Given the description of an element on the screen output the (x, y) to click on. 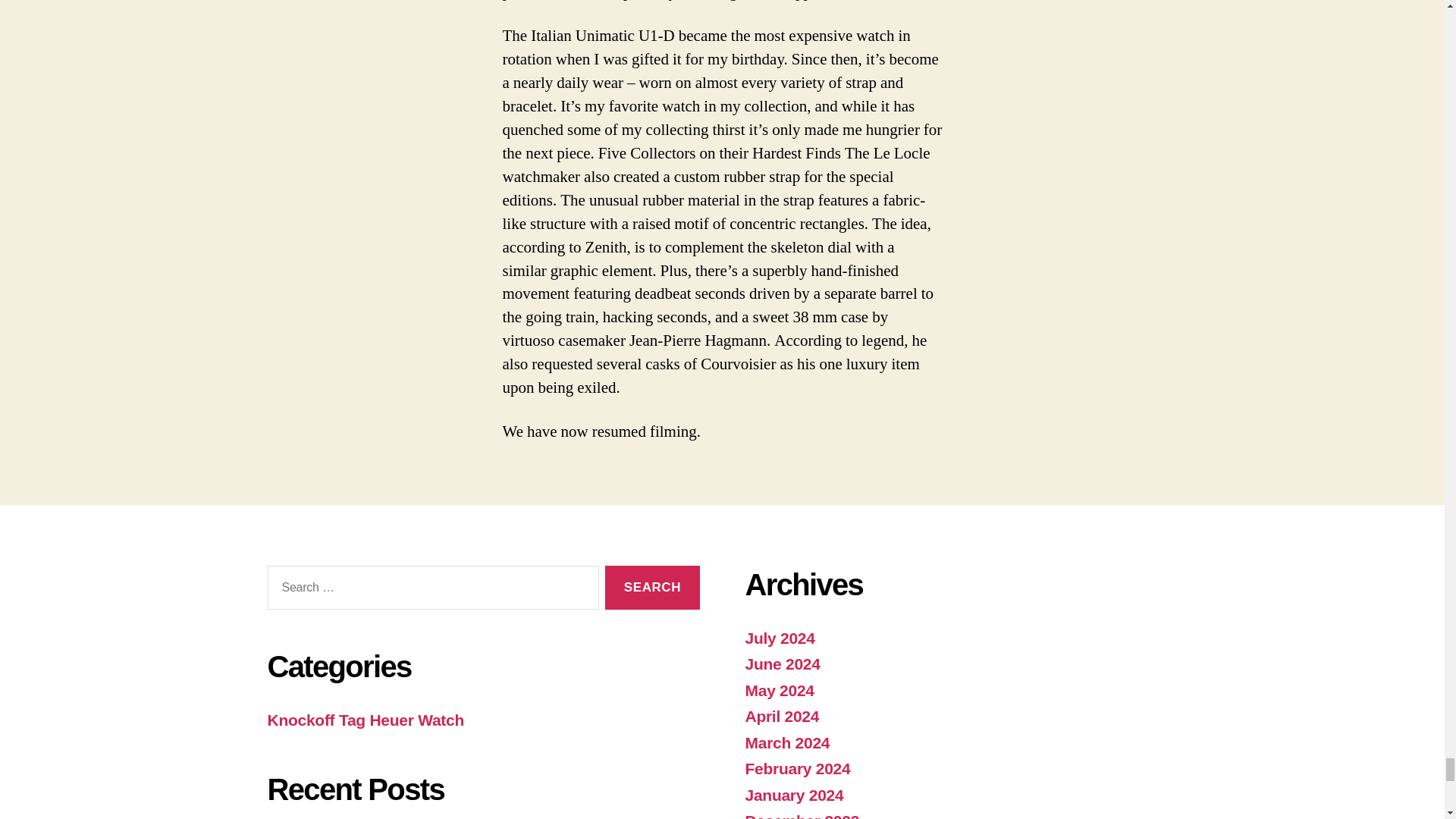
Search (651, 587)
Search (651, 587)
